Given the description of an element on the screen output the (x, y) to click on. 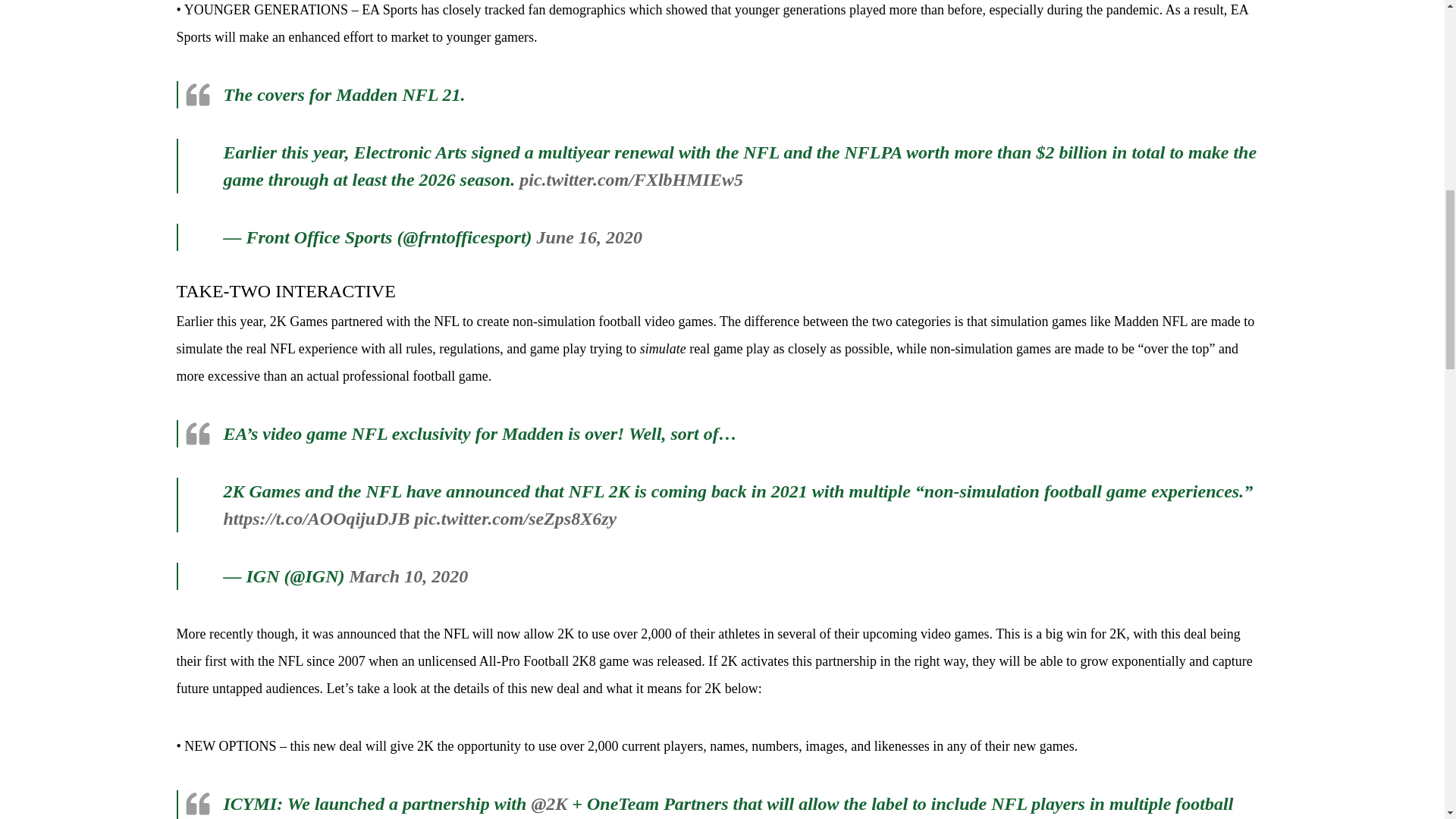
June 16, 2020 (589, 237)
March 10, 2020 (408, 576)
